Given the description of an element on the screen output the (x, y) to click on. 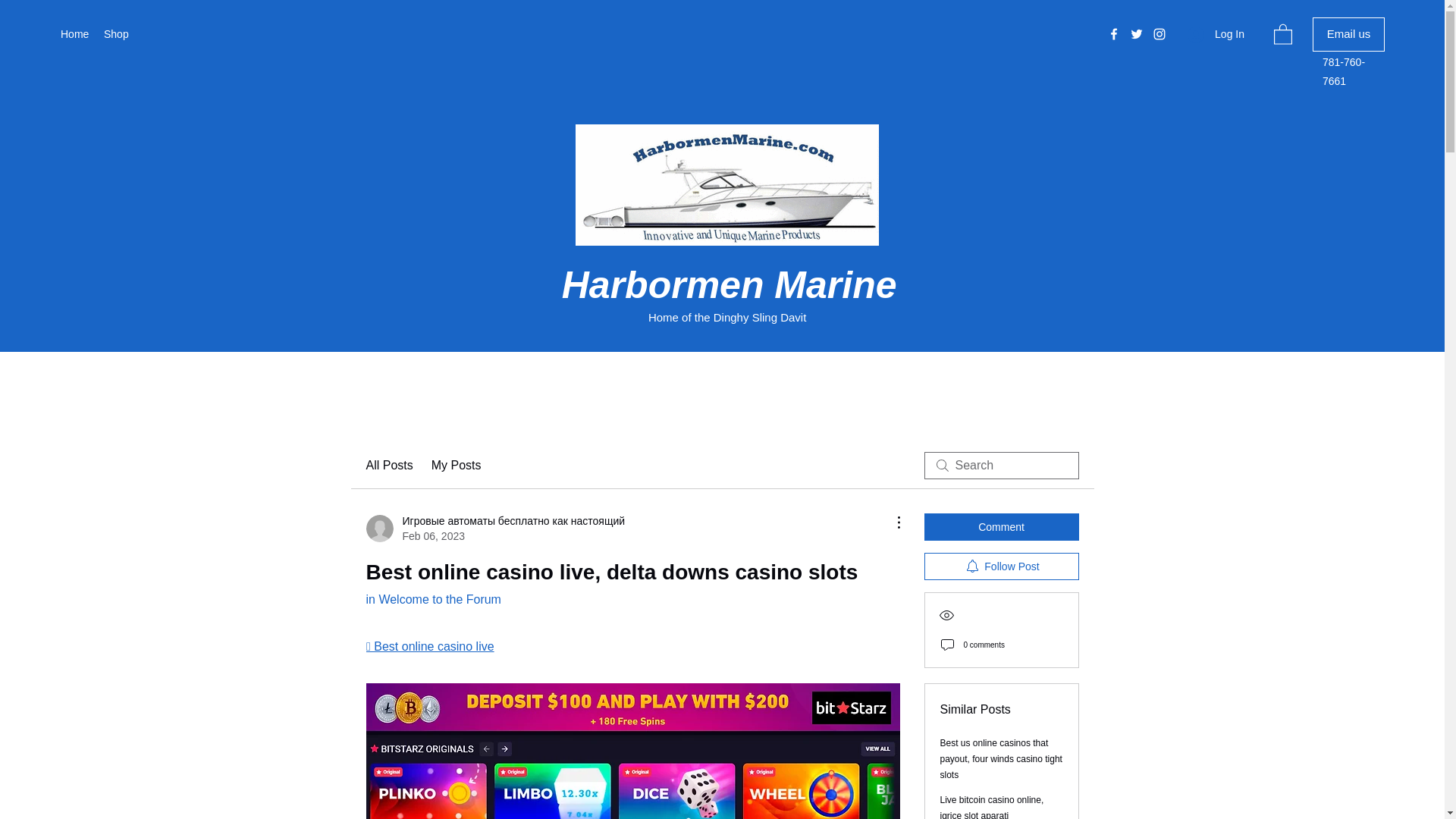
Comment (1000, 526)
Follow Post (1000, 565)
Home (74, 33)
Log In (1215, 34)
Harbormen Marine (729, 284)
Live bitcoin casino online, igrice slot aparati (991, 806)
in Welcome to the Forum (432, 599)
Email us (1348, 34)
Shop (115, 33)
